Given the description of an element on the screen output the (x, y) to click on. 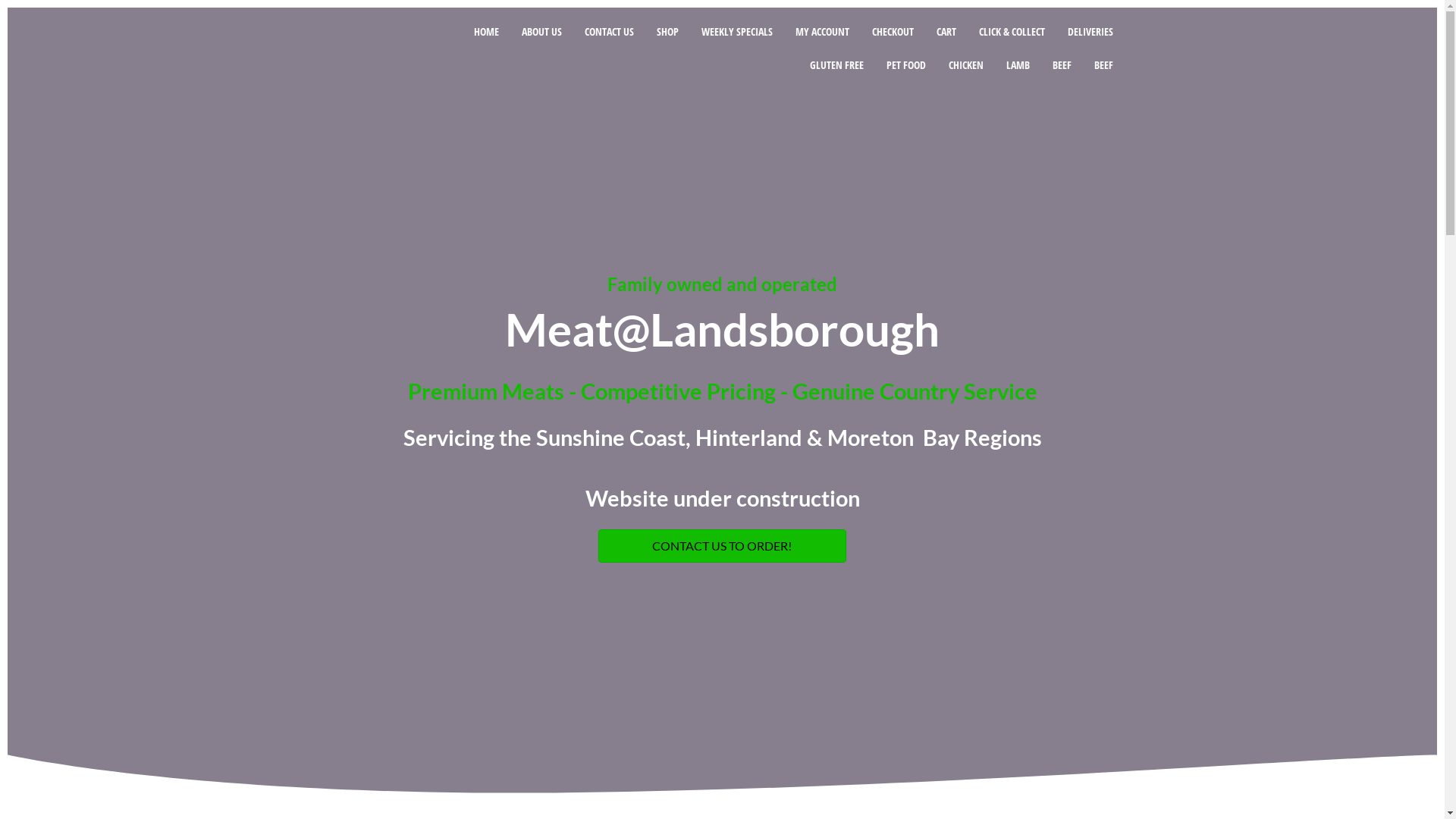
CART Element type: text (945, 31)
CLICK & COLLECT Element type: text (1011, 31)
CHECKOUT Element type: text (892, 31)
DELIVERIES Element type: text (1090, 31)
CHICKEN Element type: text (966, 65)
WEEKLY SPECIALS Element type: text (736, 31)
SHOP Element type: text (667, 31)
GLUTEN FREE Element type: text (836, 65)
CONTACT US TO ORDER! Element type: text (722, 545)
PET FOOD Element type: text (905, 65)
HOME Element type: text (486, 31)
MY ACCOUNT Element type: text (821, 31)
ABOUT US Element type: text (541, 31)
LAMB Element type: text (1017, 65)
CONTACT US Element type: text (609, 31)
BEEF Element type: text (1061, 65)
BEEF Element type: text (1103, 65)
